Given the description of an element on the screen output the (x, y) to click on. 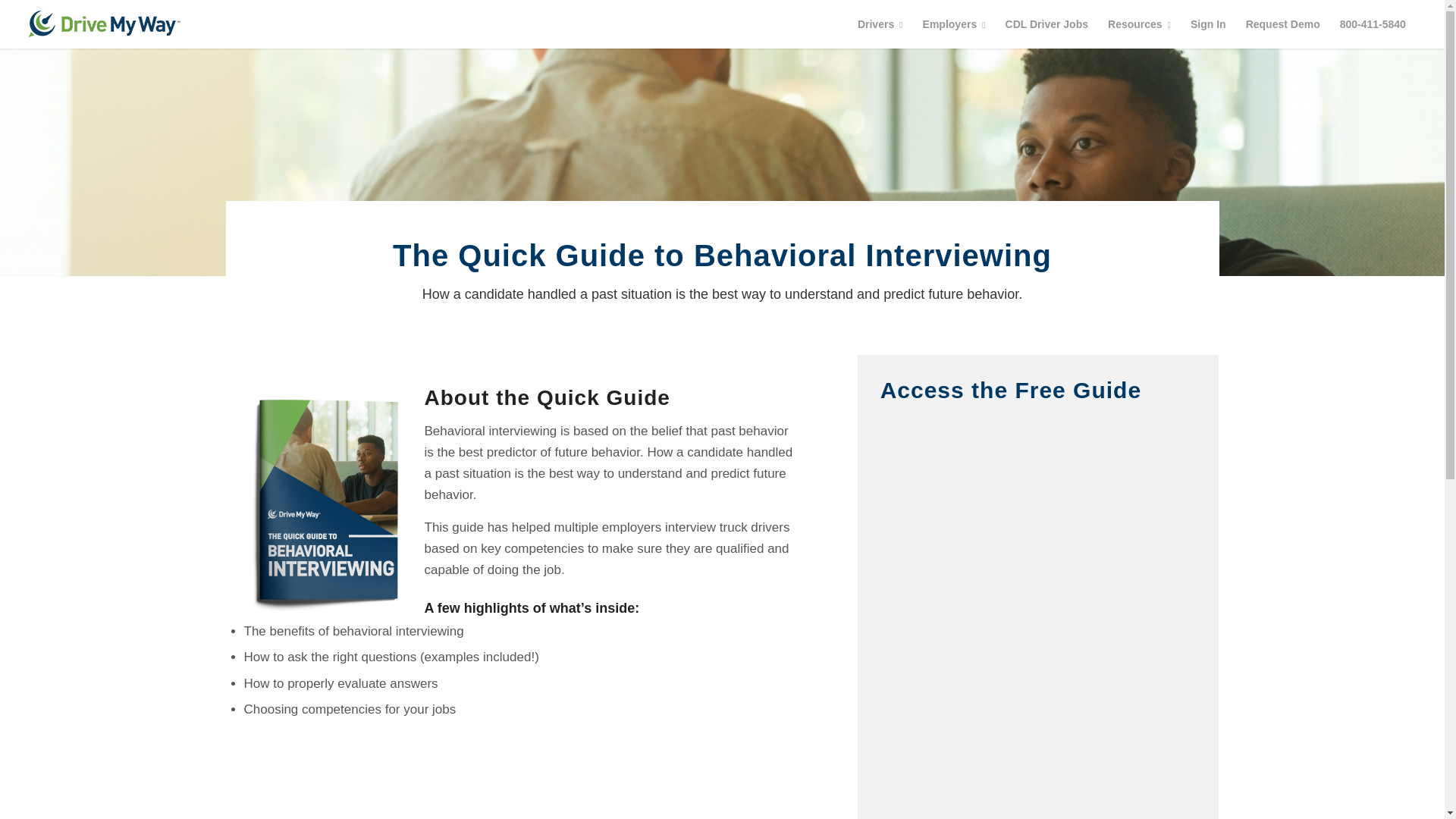
Request Demo (1283, 24)
Drivers (879, 24)
Sign In (1208, 24)
Employers (953, 24)
CDL Driver Jobs (1046, 24)
800-411-5840 (1372, 24)
Resources (1138, 24)
